Given the description of an element on the screen output the (x, y) to click on. 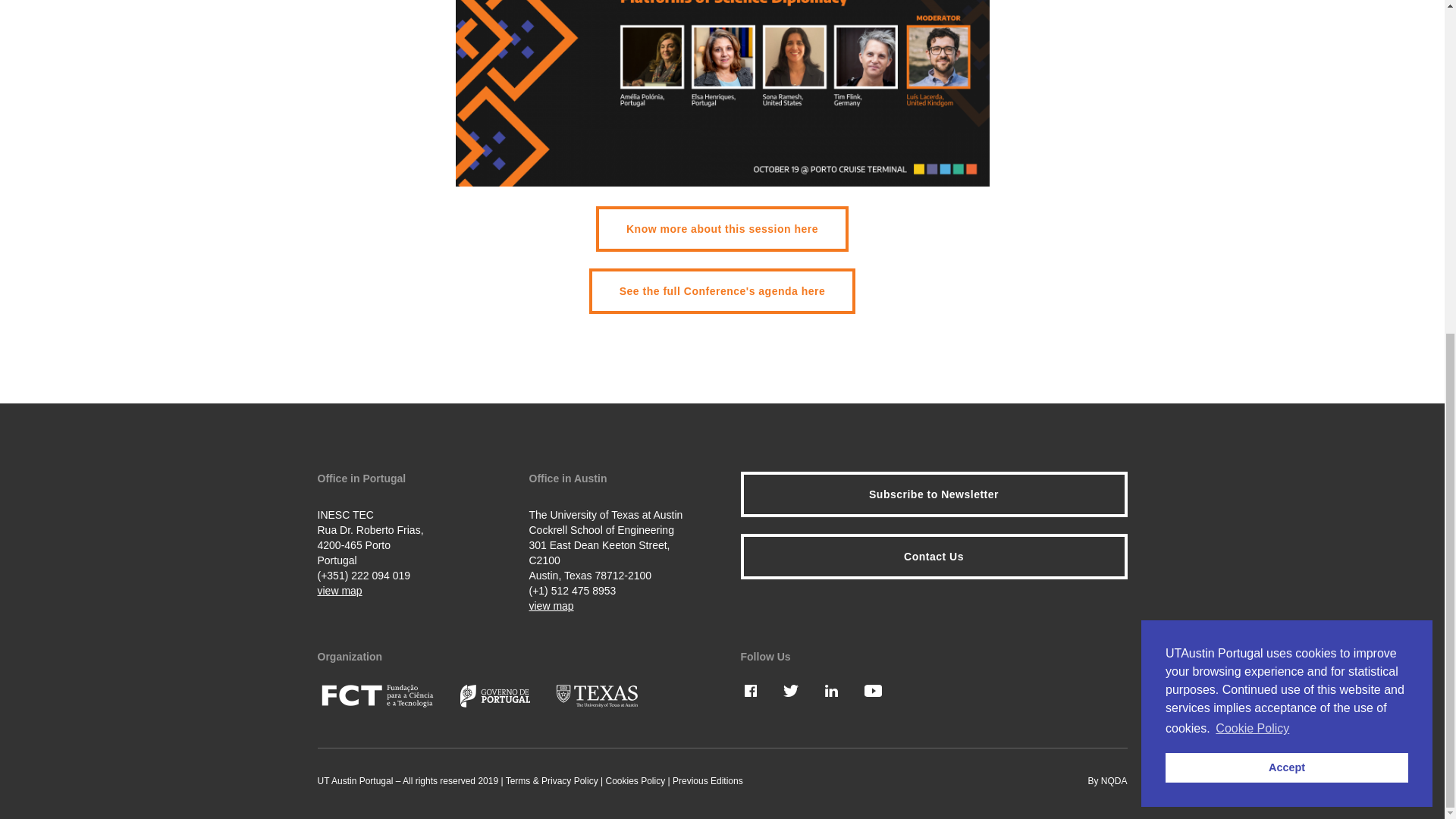
Cookie Policy (1251, 172)
Accept (1286, 211)
